Given the description of an element on the screen output the (x, y) to click on. 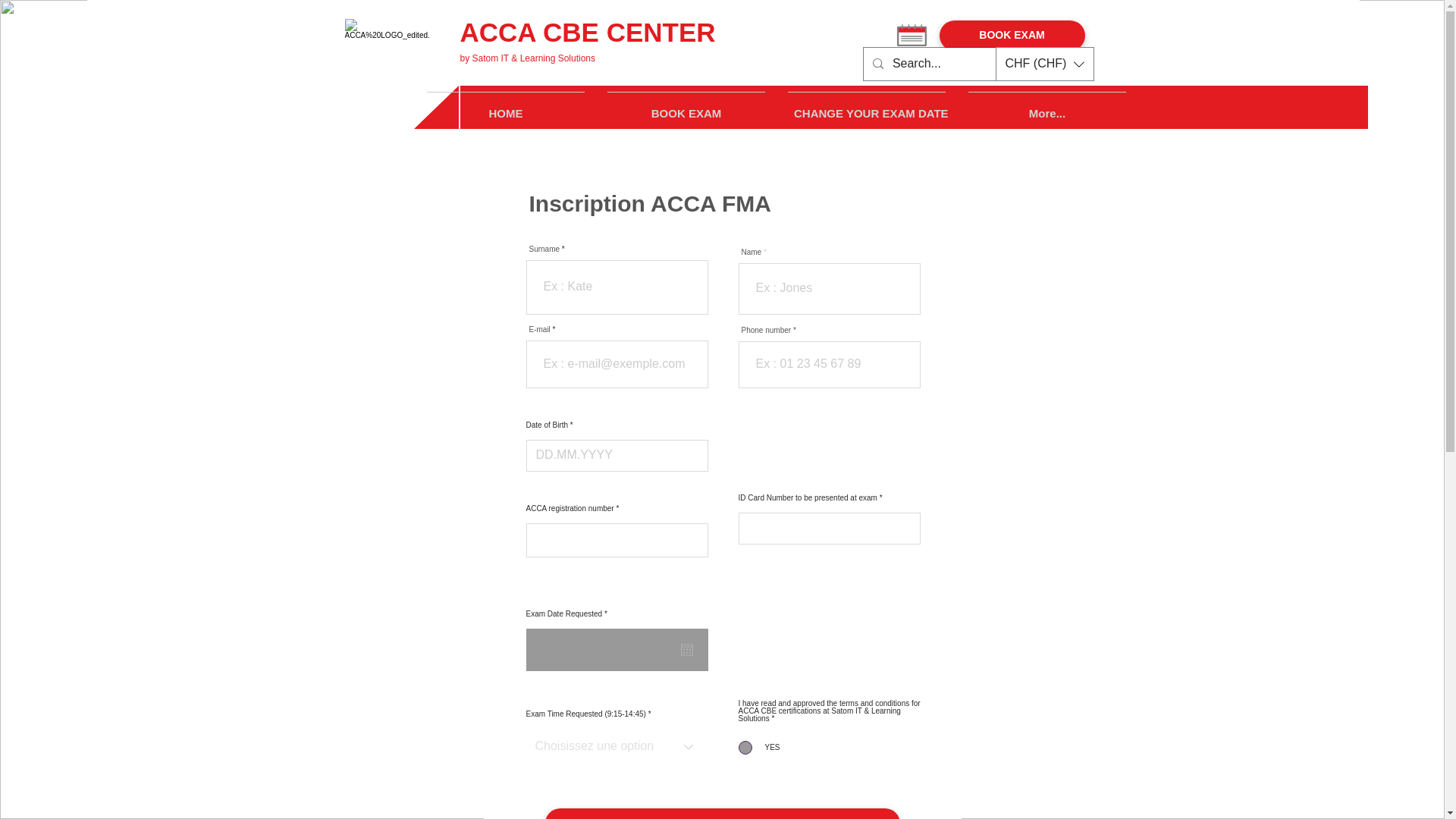
Book exam and pay CHF 162.- (721, 813)
BOOK EXAM (685, 106)
CHANGE YOUR EXAM DATE (866, 106)
BOOK EXAM (1011, 35)
HOME (504, 106)
